Given the description of an element on the screen output the (x, y) to click on. 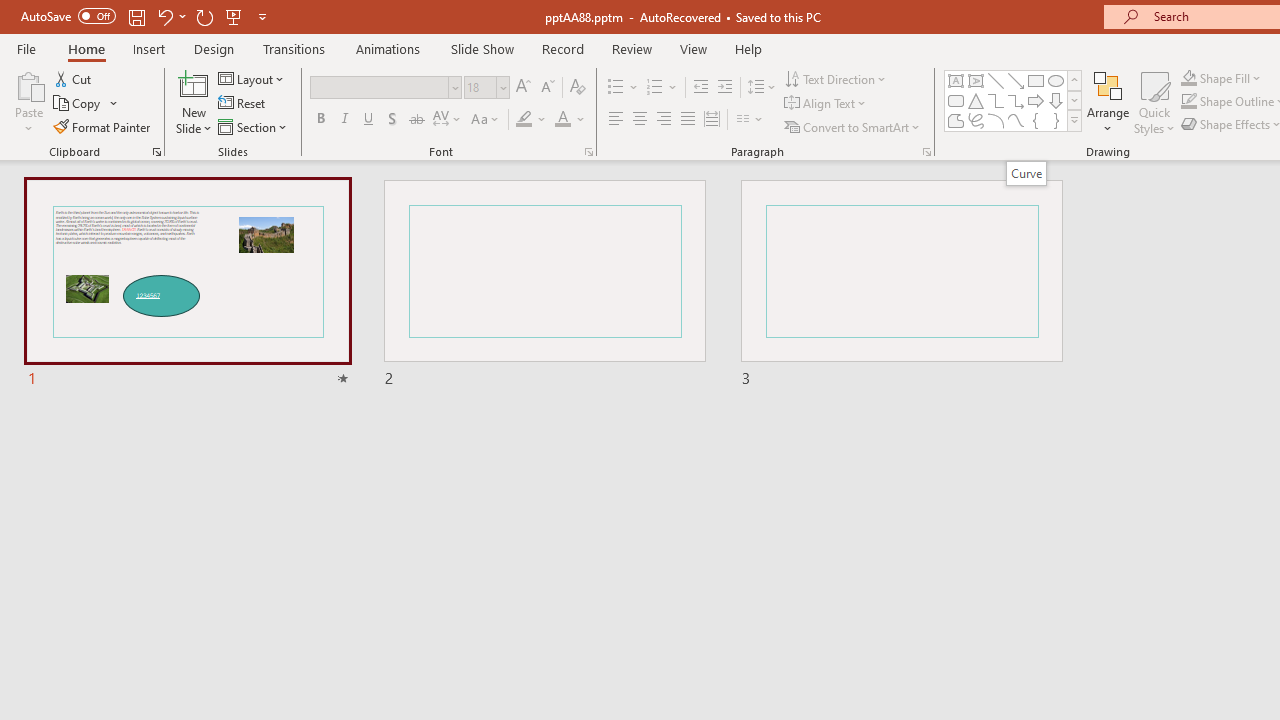
Shape Outline Teal, Accent 1 (1188, 101)
Shape Fill Aqua, Accent 2 (1188, 78)
